Given the description of an element on the screen output the (x, y) to click on. 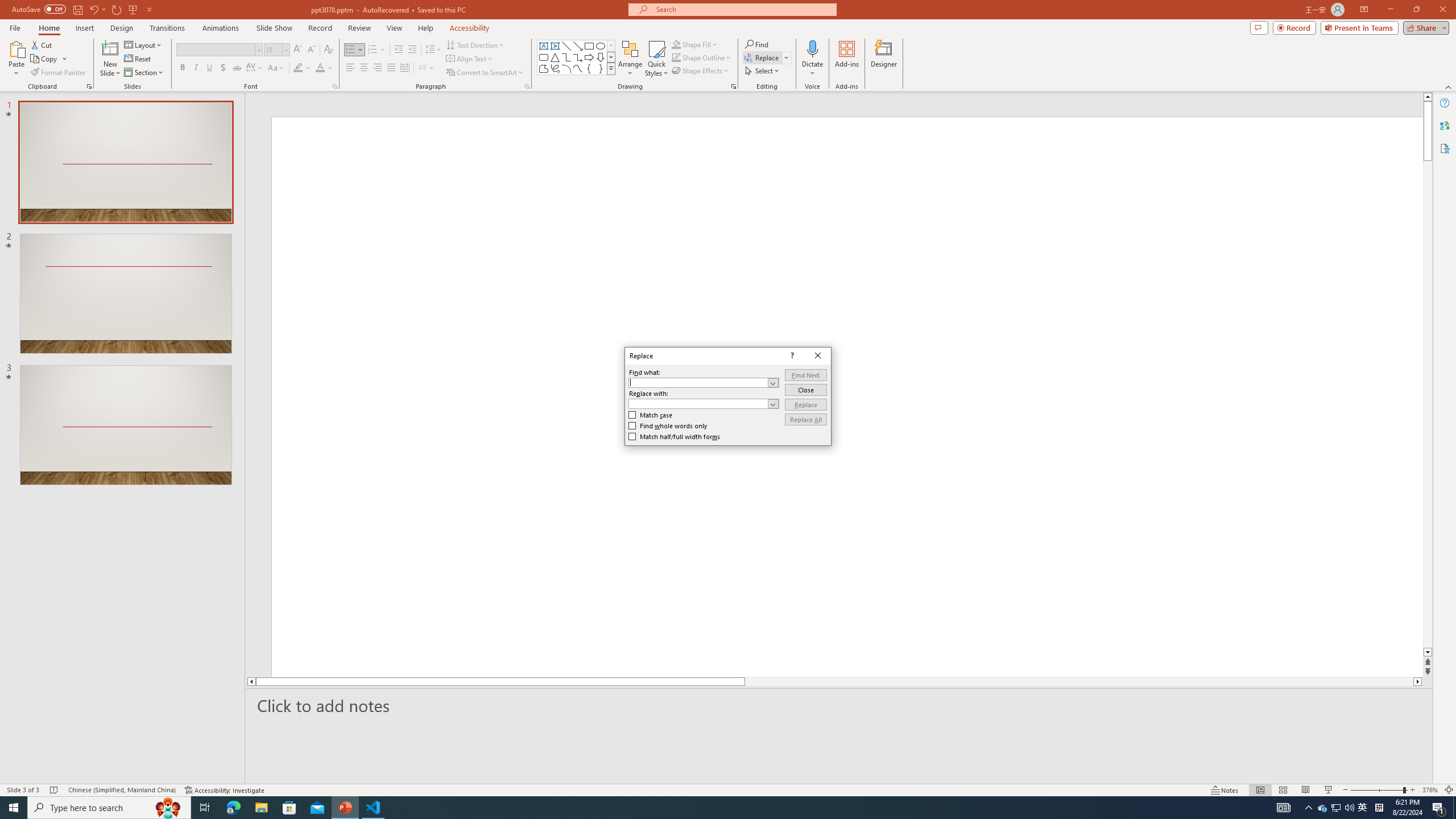
An abstract genetic concept (363, 526)
